Given the description of an element on the screen output the (x, y) to click on. 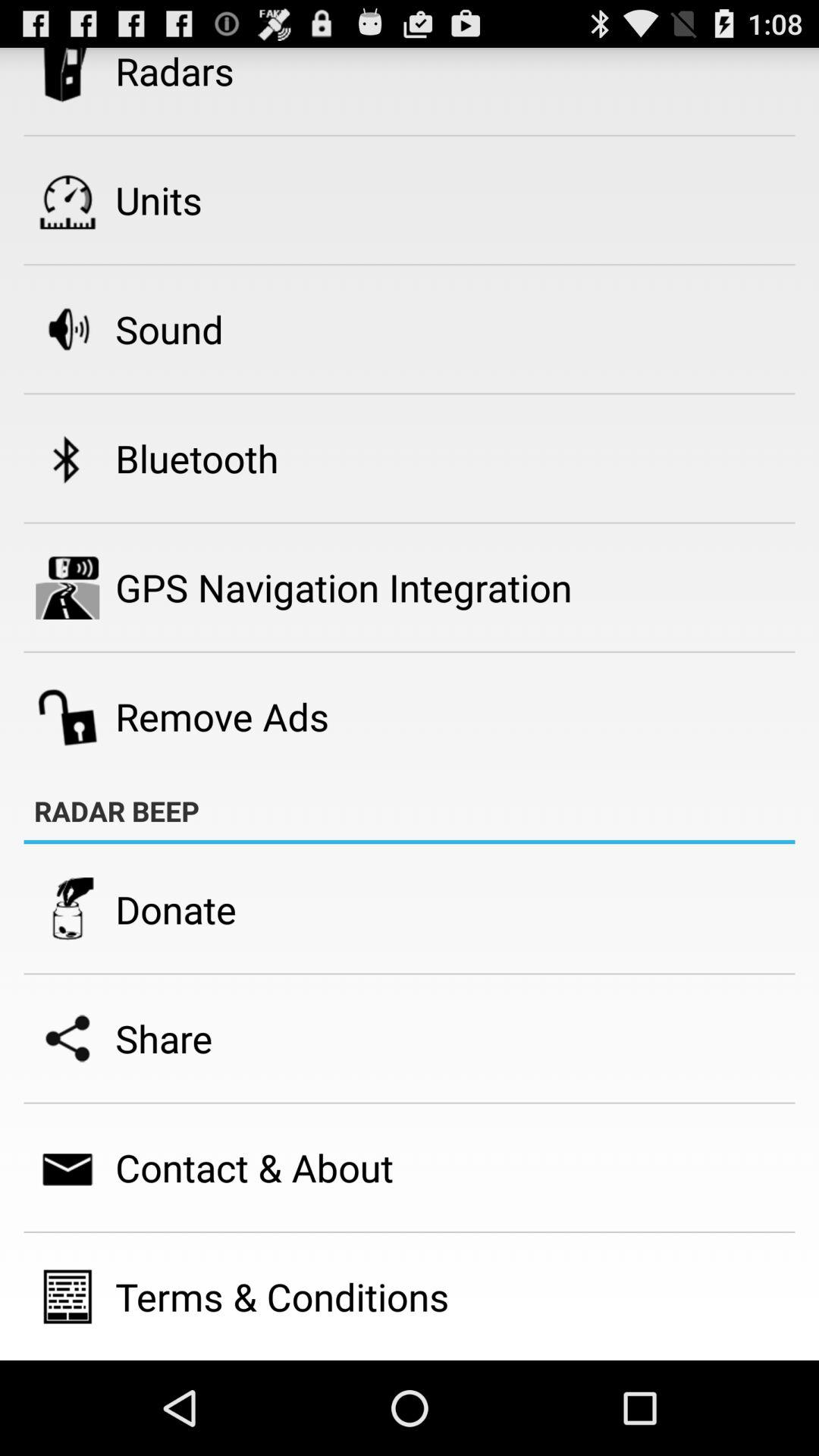
select the radars (174, 71)
